Given the description of an element on the screen output the (x, y) to click on. 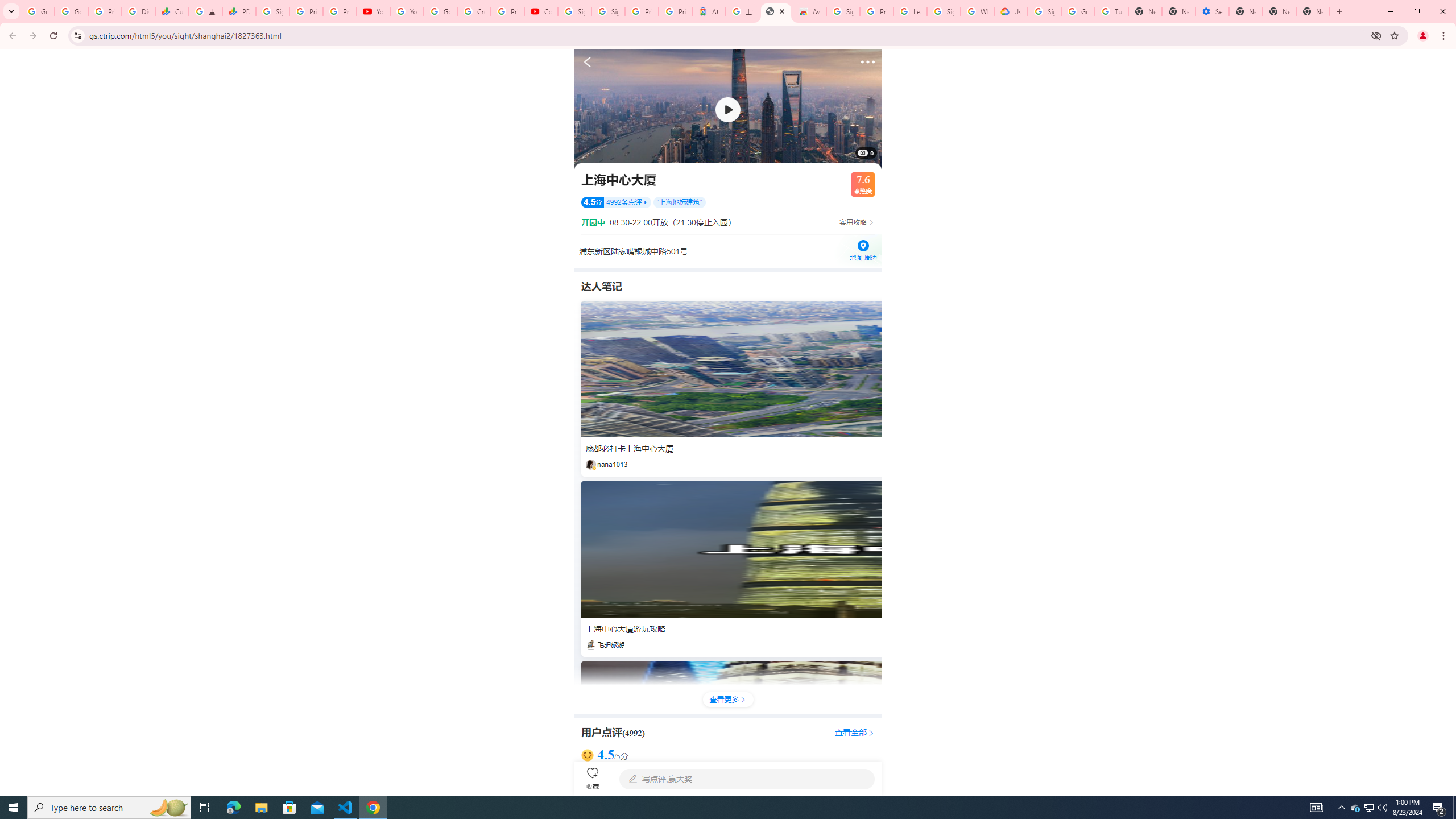
Google Workspace Admin Community (37, 11)
YouTube (406, 11)
Create your Google Account (474, 11)
Sign in - Google Accounts (608, 11)
